Given the description of an element on the screen output the (x, y) to click on. 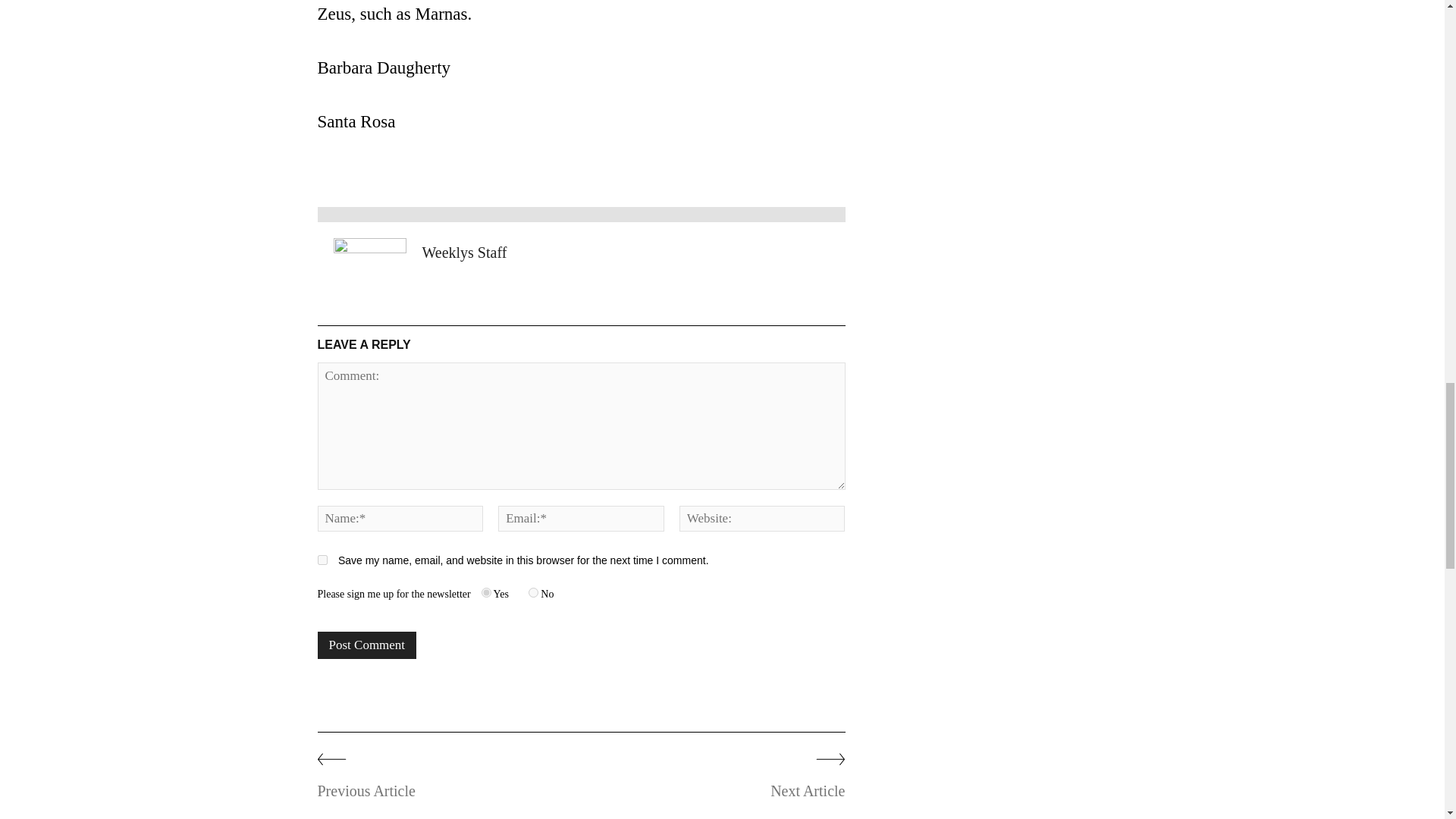
Yes (486, 592)
No (533, 592)
yes (321, 560)
Post Comment (366, 645)
